Given the description of an element on the screen output the (x, y) to click on. 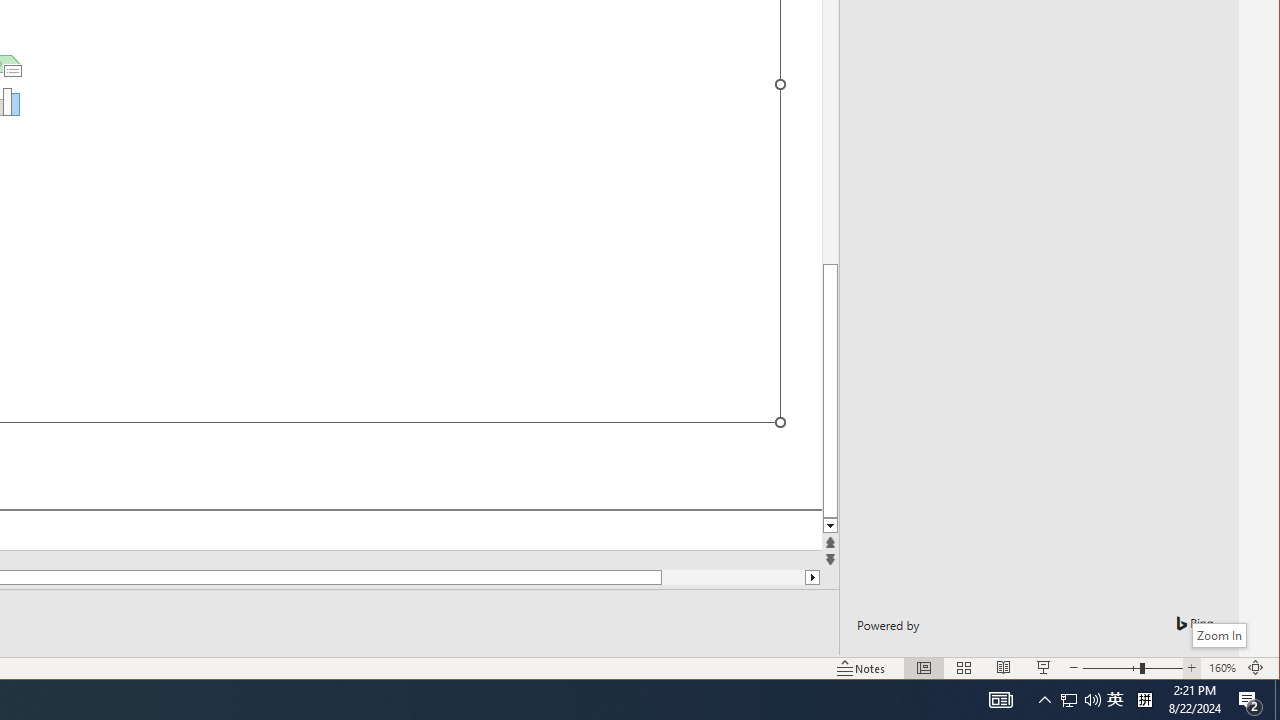
Slide Sorter (1069, 699)
Page down (964, 668)
Zoom In (764, 577)
Zoom 160% (1191, 668)
Q2790: 100% (1222, 668)
Notes  (1092, 699)
Reading View (861, 668)
